Given the description of an element on the screen output the (x, y) to click on. 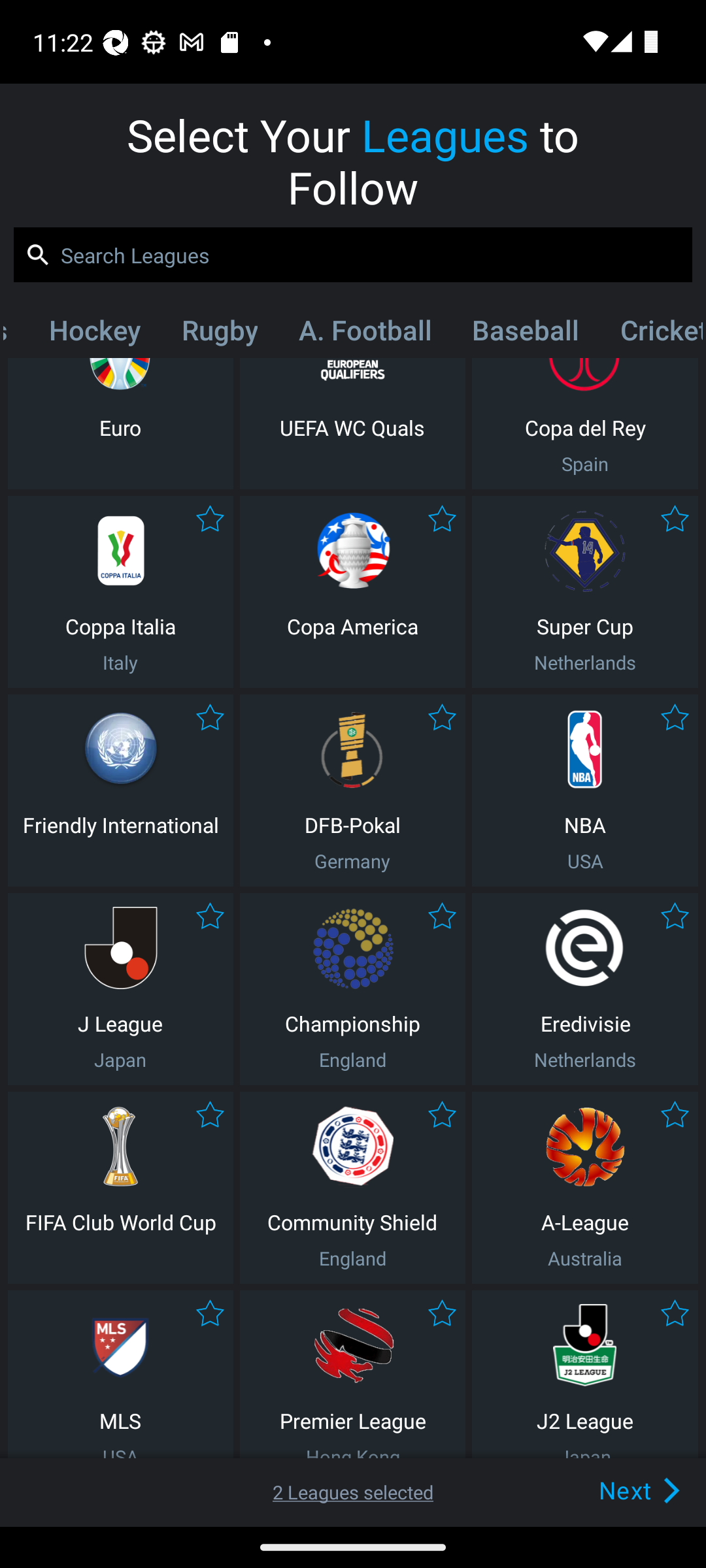
Search Leagues (352, 254)
Hockey (94, 333)
Rugby (219, 333)
A. Football (364, 333)
Baseball (525, 333)
Cricket (650, 333)
Euro (120, 423)
UEFA WC Quals (352, 423)
Copa del Rey Spain (585, 423)
Coppa Italia Italy (120, 591)
Copa America (352, 591)
Super Cup Netherlands (585, 591)
Friendly International (120, 789)
DFB-Pokal Germany (352, 789)
NBA USA (585, 789)
J League Japan (120, 989)
Championship England (352, 989)
Eredivisie Netherlands (585, 989)
FIFA Club World Cup (120, 1187)
Community Shield England (352, 1187)
A-League Australia (585, 1187)
MLS USA (120, 1374)
Premier League Hong Kong (352, 1374)
J2 League Japan (585, 1374)
Next (609, 1489)
2 Leagues selected (352, 1491)
